Given the description of an element on the screen output the (x, y) to click on. 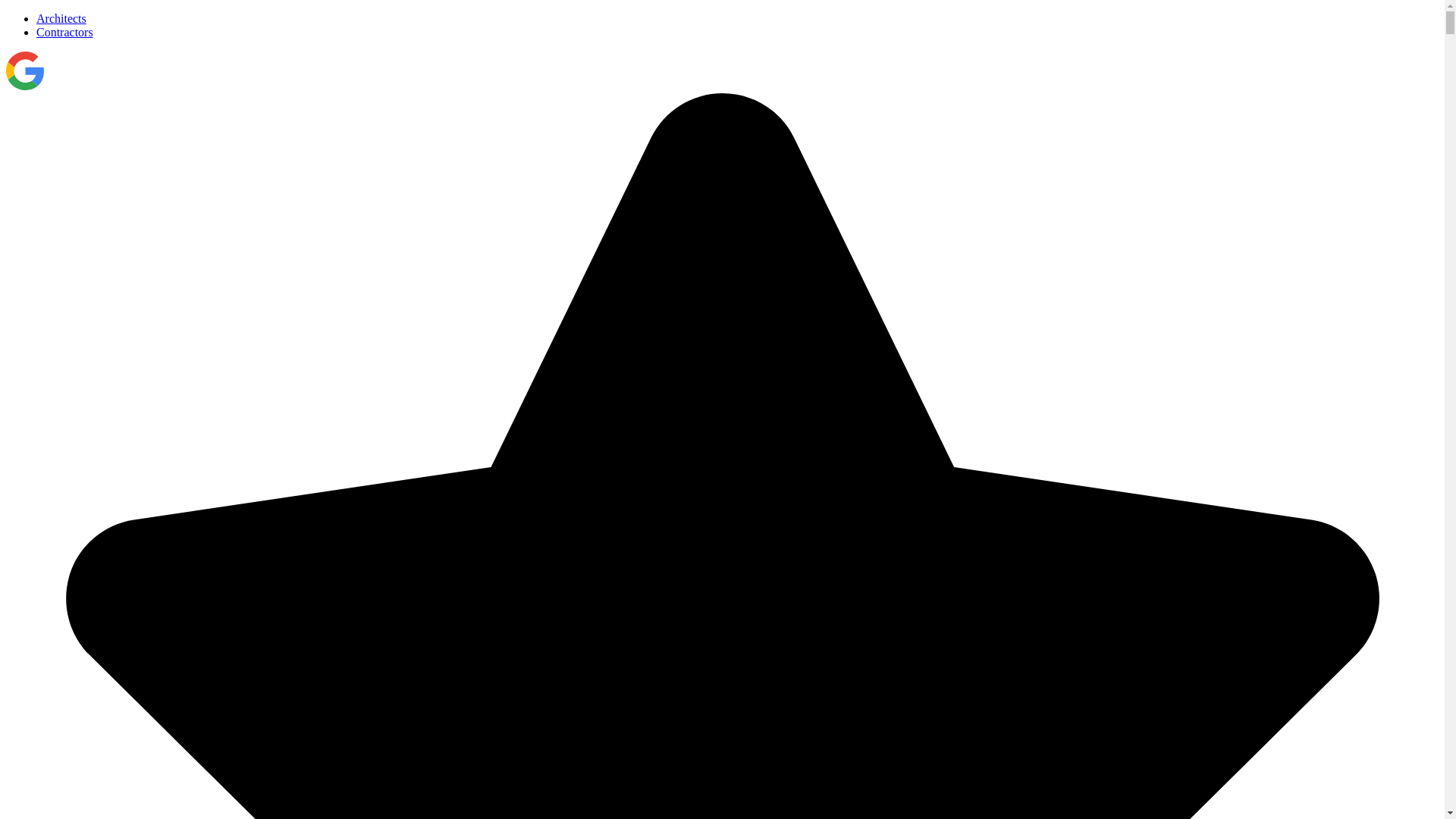
Contractors (64, 31)
Architects (60, 18)
